Given the description of an element on the screen output the (x, y) to click on. 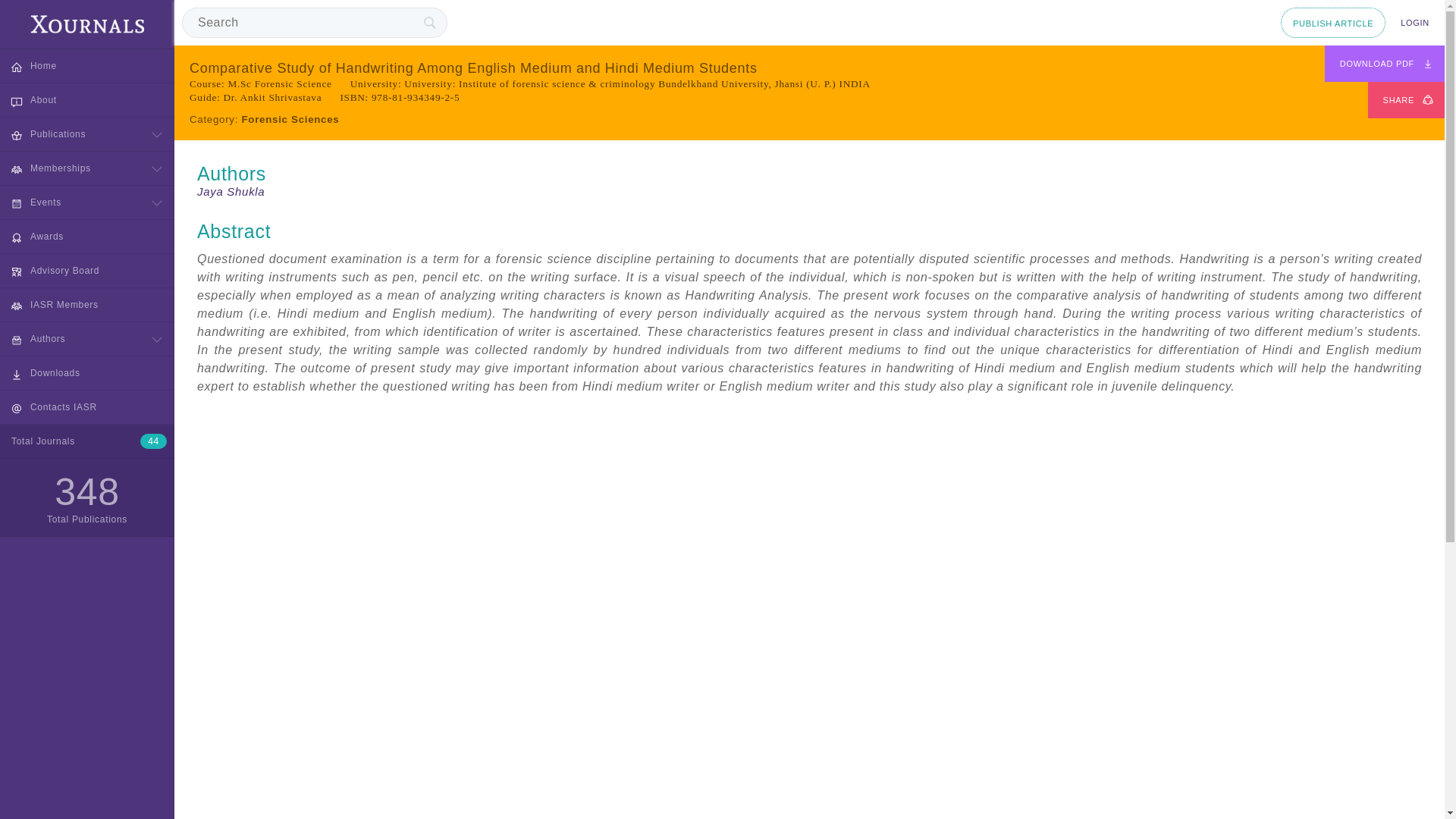
Contacts IASR (87, 407)
PUBLISH ARTICLE (1333, 22)
LOGIN (1414, 22)
About (87, 100)
Awards (87, 236)
Memberships (87, 168)
Publications (87, 133)
PUBLISH ARTICLE (1333, 22)
IASR Members (87, 304)
Home (87, 65)
Events (87, 202)
Authors (87, 338)
Downloads (87, 372)
LOGIN (1414, 22)
Advisory Board (87, 270)
